Given the description of an element on the screen output the (x, y) to click on. 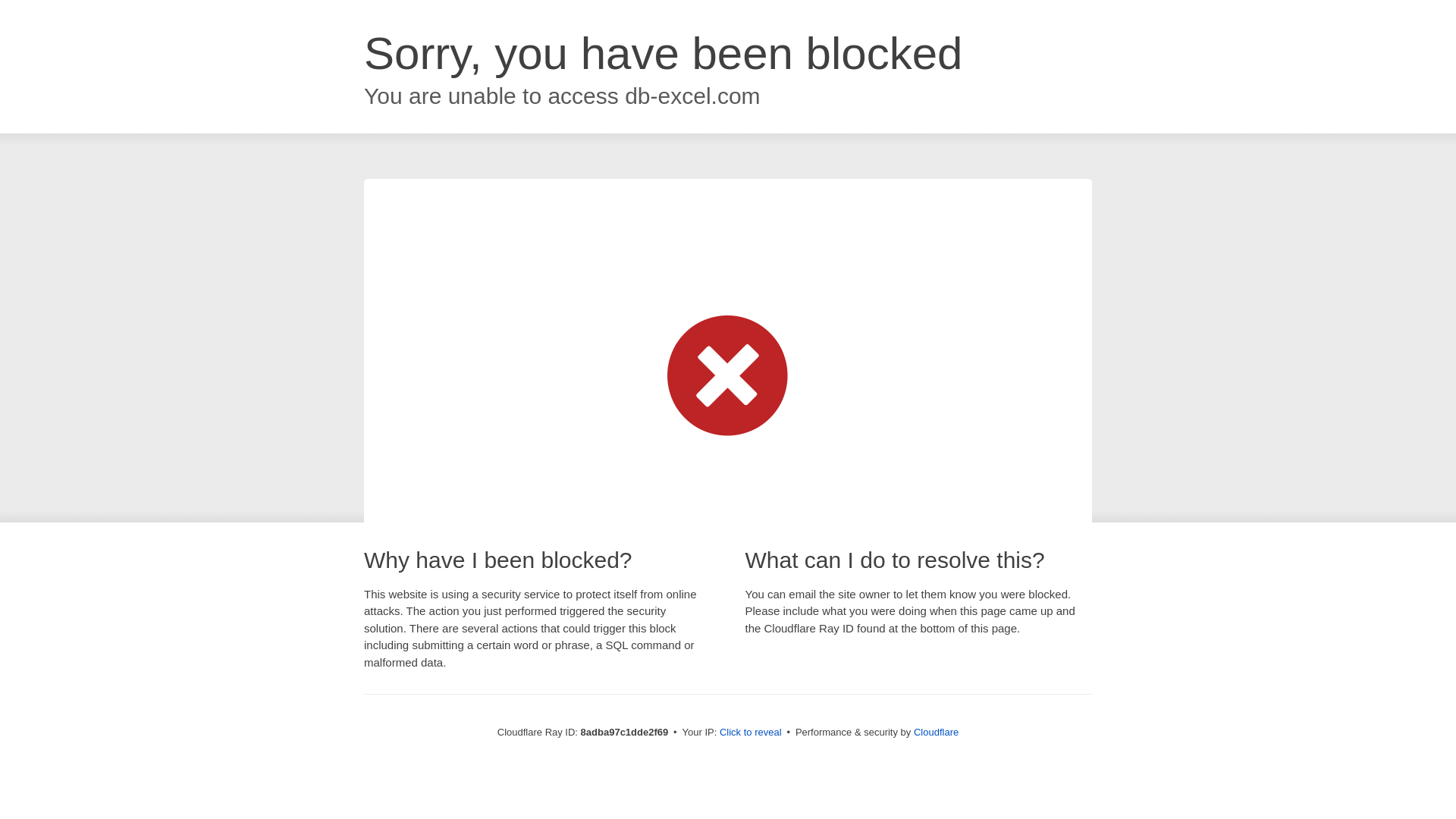
Cloudflare (936, 731)
Click to reveal (750, 732)
